Given the description of an element on the screen output the (x, y) to click on. 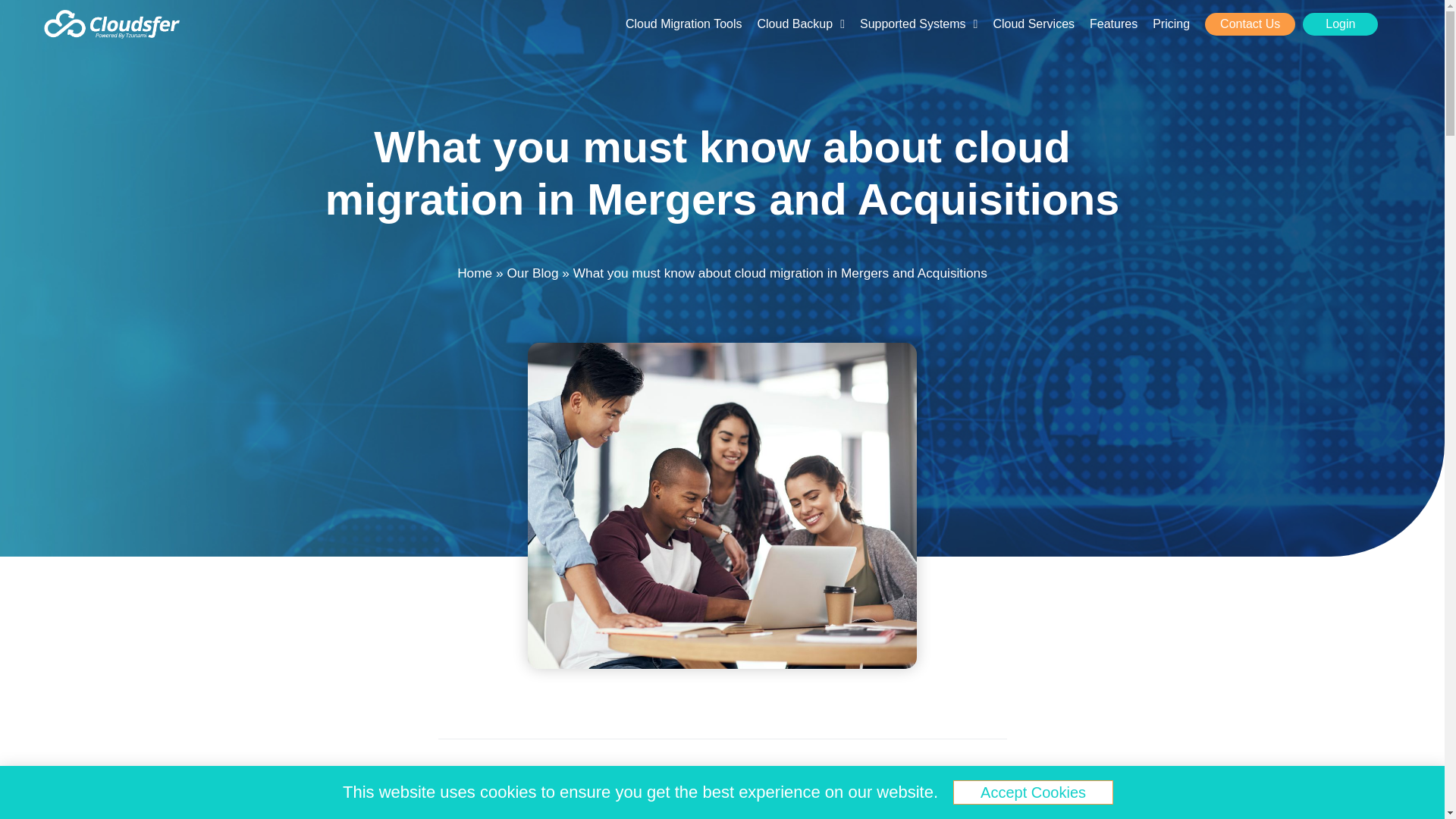
Cloud Migration Tools (683, 23)
Cloud Backup (800, 23)
